Given the description of an element on the screen output the (x, y) to click on. 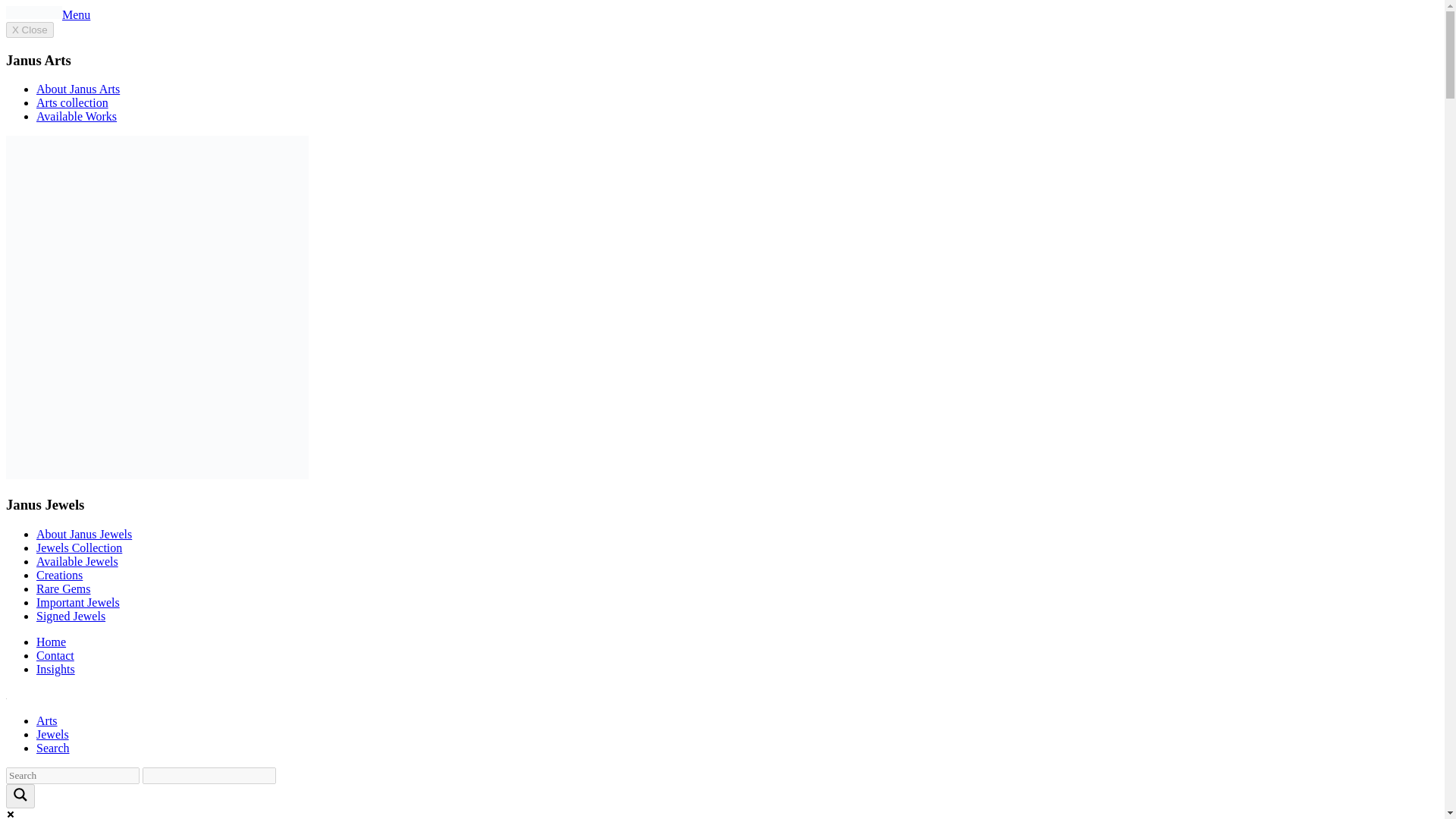
Available Jewels (76, 561)
Jewels Collection (79, 547)
Important Jewels (77, 602)
Insights (55, 668)
Jewels Collection (79, 547)
About Janus Jewels (84, 533)
Important Jewels (77, 602)
Home (50, 641)
Creations (59, 574)
About Janus Jewels (84, 533)
